Given the description of an element on the screen output the (x, y) to click on. 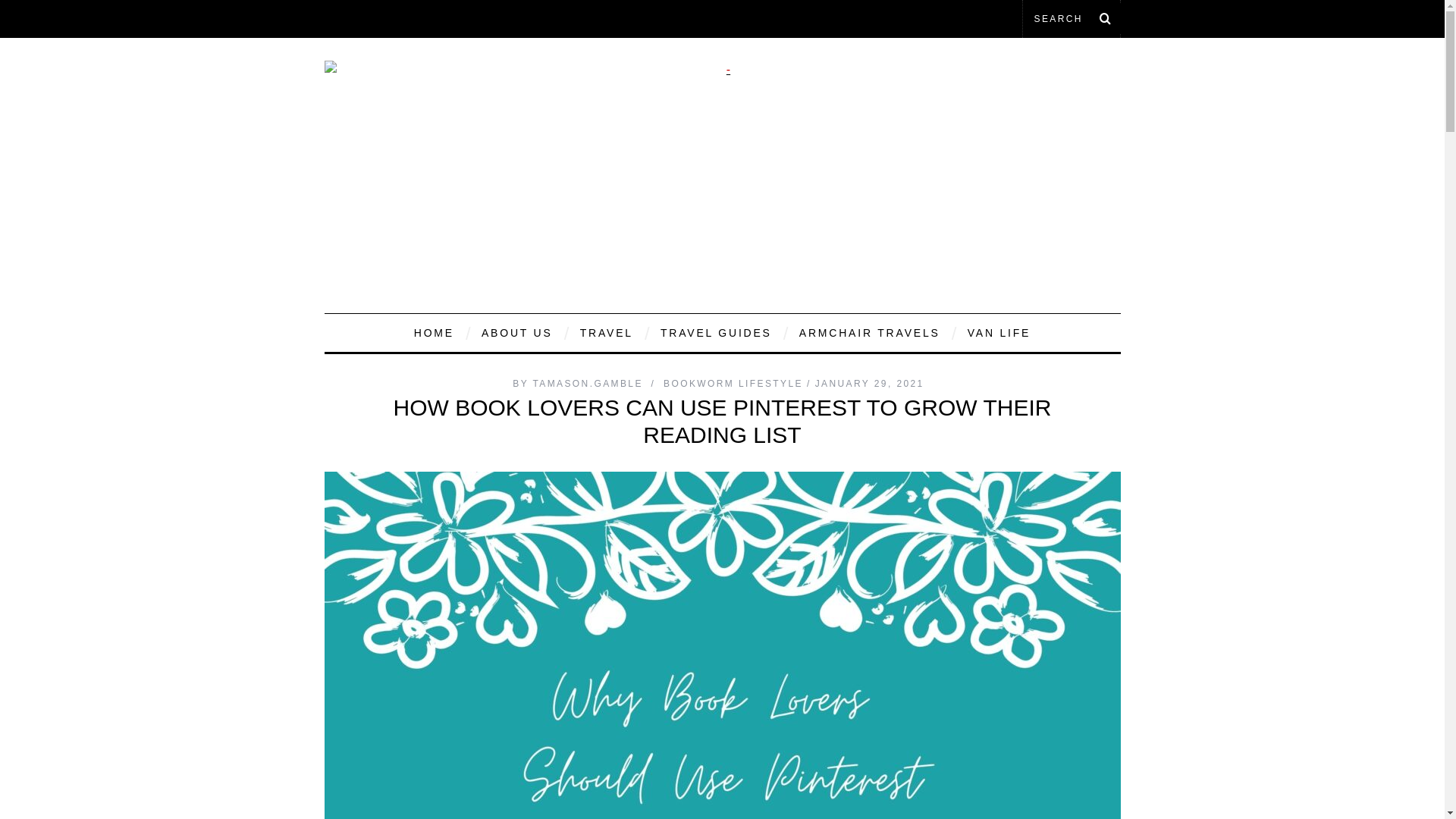
HOME (434, 332)
TRAVEL (607, 332)
TRAVEL GUIDES (716, 332)
Search (1071, 18)
VAN LIFE (999, 332)
ARMCHAIR TRAVELS (869, 332)
ABOUT US (517, 332)
